Given the description of an element on the screen output the (x, y) to click on. 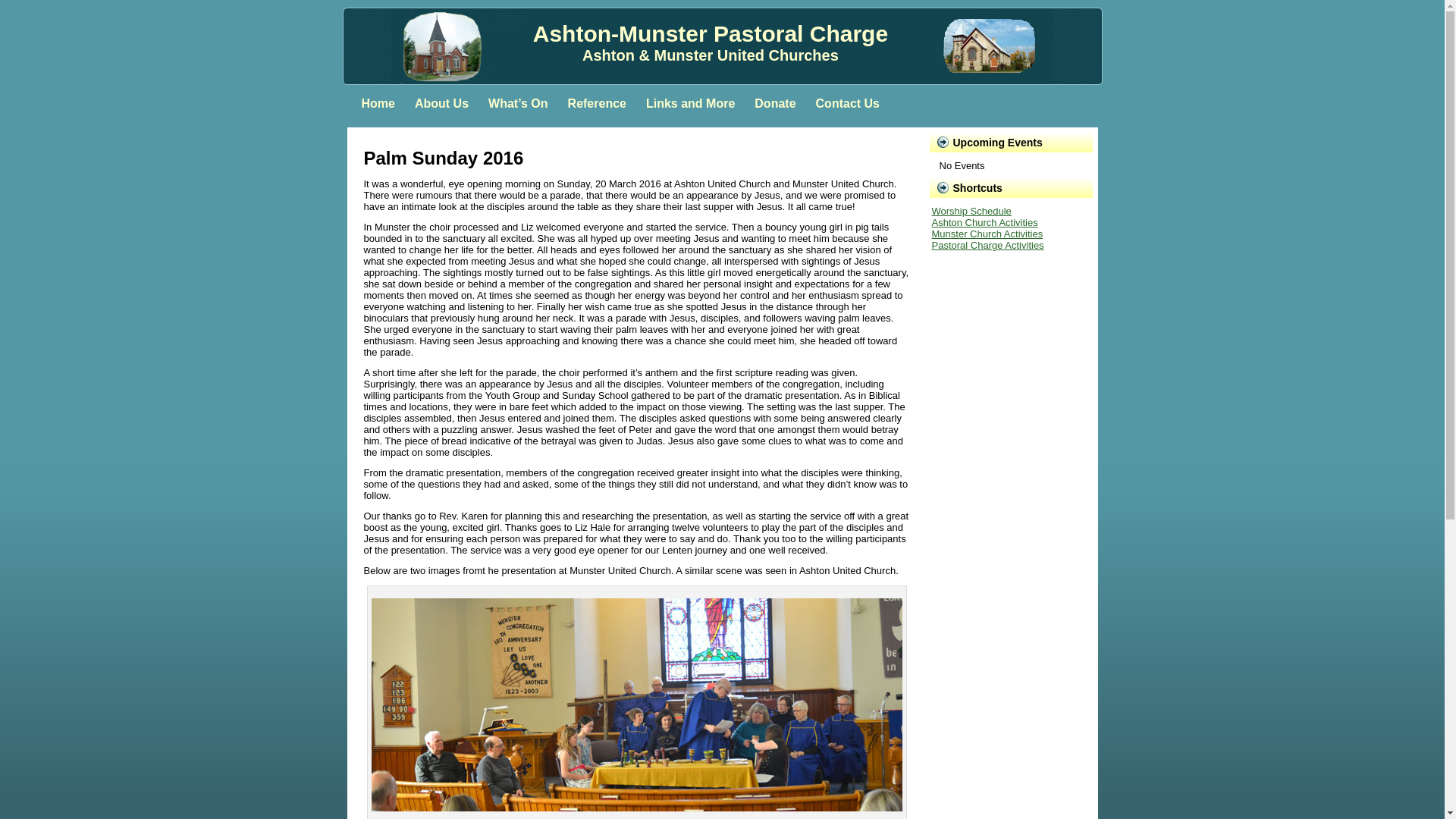
Links and More Element type: text (690, 103)
Reference Element type: text (596, 103)
Worship Schedule Element type: text (970, 210)
Contact Us Element type: text (847, 103)
About Us Element type: text (441, 103)
Donate Element type: text (774, 103)
Pastoral Charge Activities Element type: text (987, 245)
Munster Church Activities Element type: text (986, 233)
Ashton Church Activities Element type: text (984, 222)
Ashton-Munster Pastoral Charge Element type: text (710, 33)
Home Element type: text (377, 103)
